Given the description of an element on the screen output the (x, y) to click on. 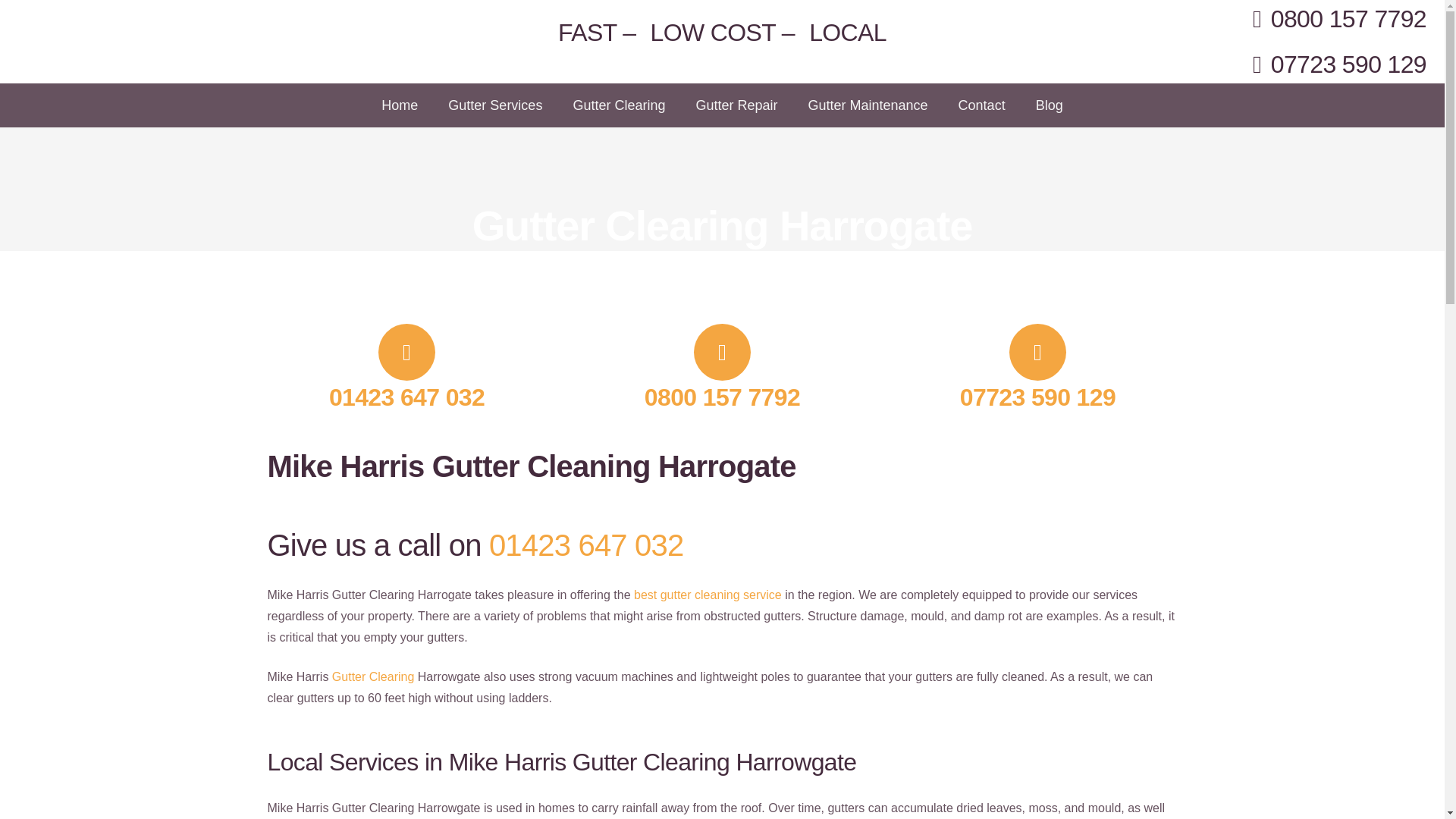
Premier (529, 437)
0800 157 7792 (722, 397)
best gutter cleaning service (707, 594)
07723 590 129 (1058, 436)
01423 647 032 (586, 544)
Coronavirus (759, 721)
07723 590 129 (1037, 397)
Cookie Policy (1002, 721)
LinkedIn (792, 363)
Mercy Ships (541, 513)
